Given the description of an element on the screen output the (x, y) to click on. 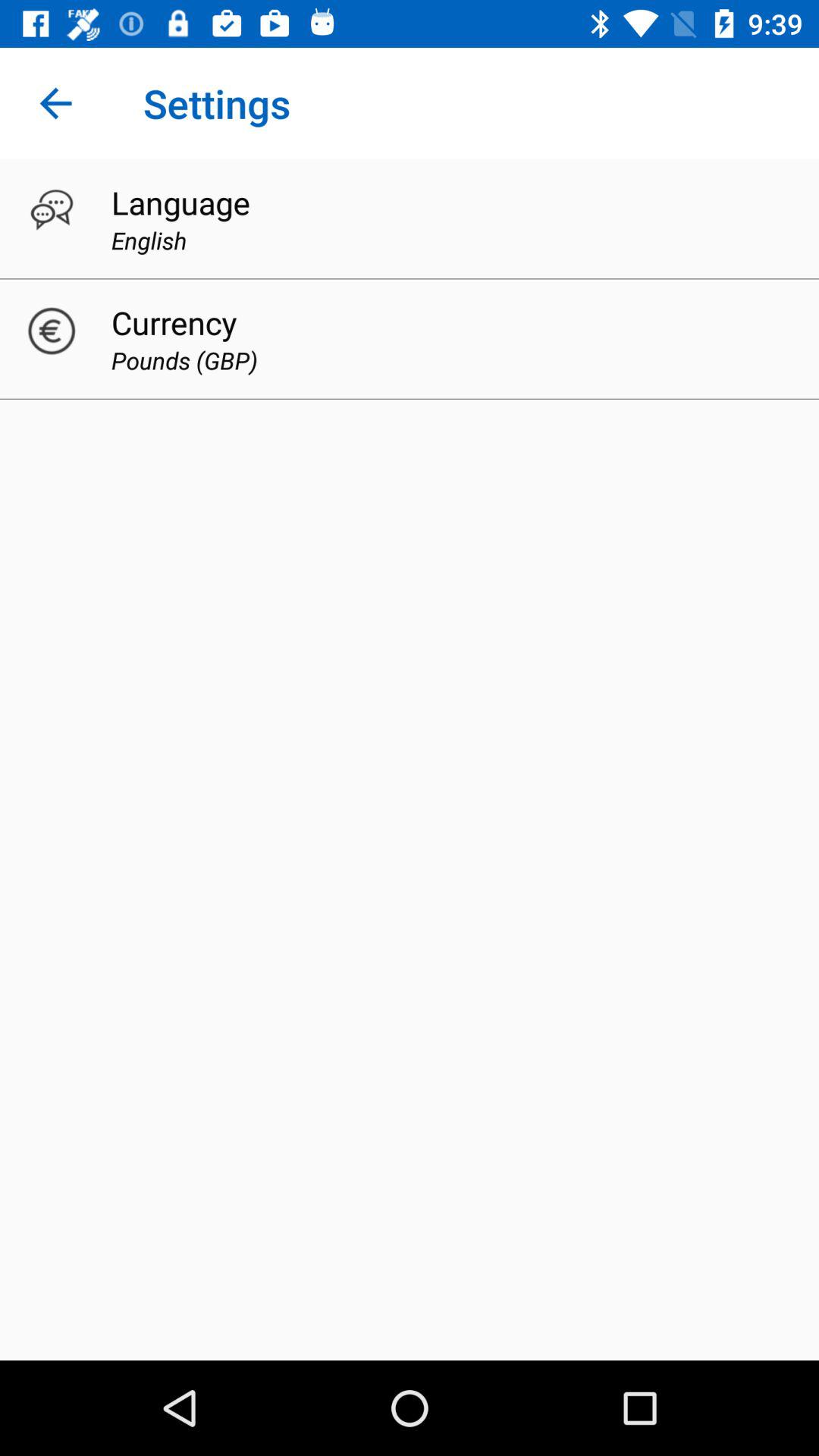
press item above the pounds (gbp) icon (174, 322)
